Given the description of an element on the screen output the (x, y) to click on. 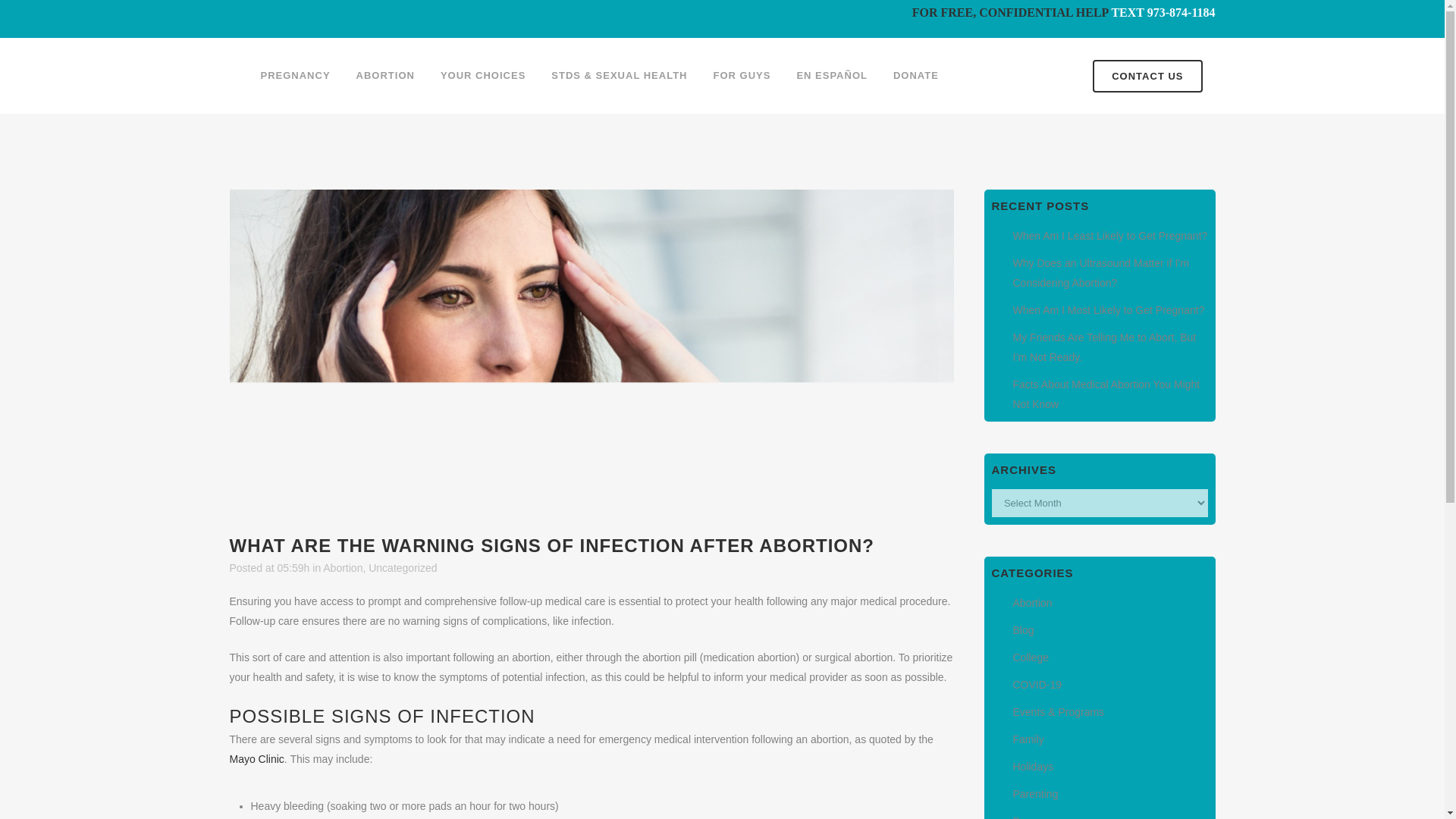
TEXT 973-874-1184 (1162, 11)
CONTACT US (1147, 74)
YOUR CHOICES (483, 75)
ABORTION (385, 75)
PREGNANCY (294, 75)
DONATE (916, 75)
FOR GUYS (741, 75)
